Given the description of an element on the screen output the (x, y) to click on. 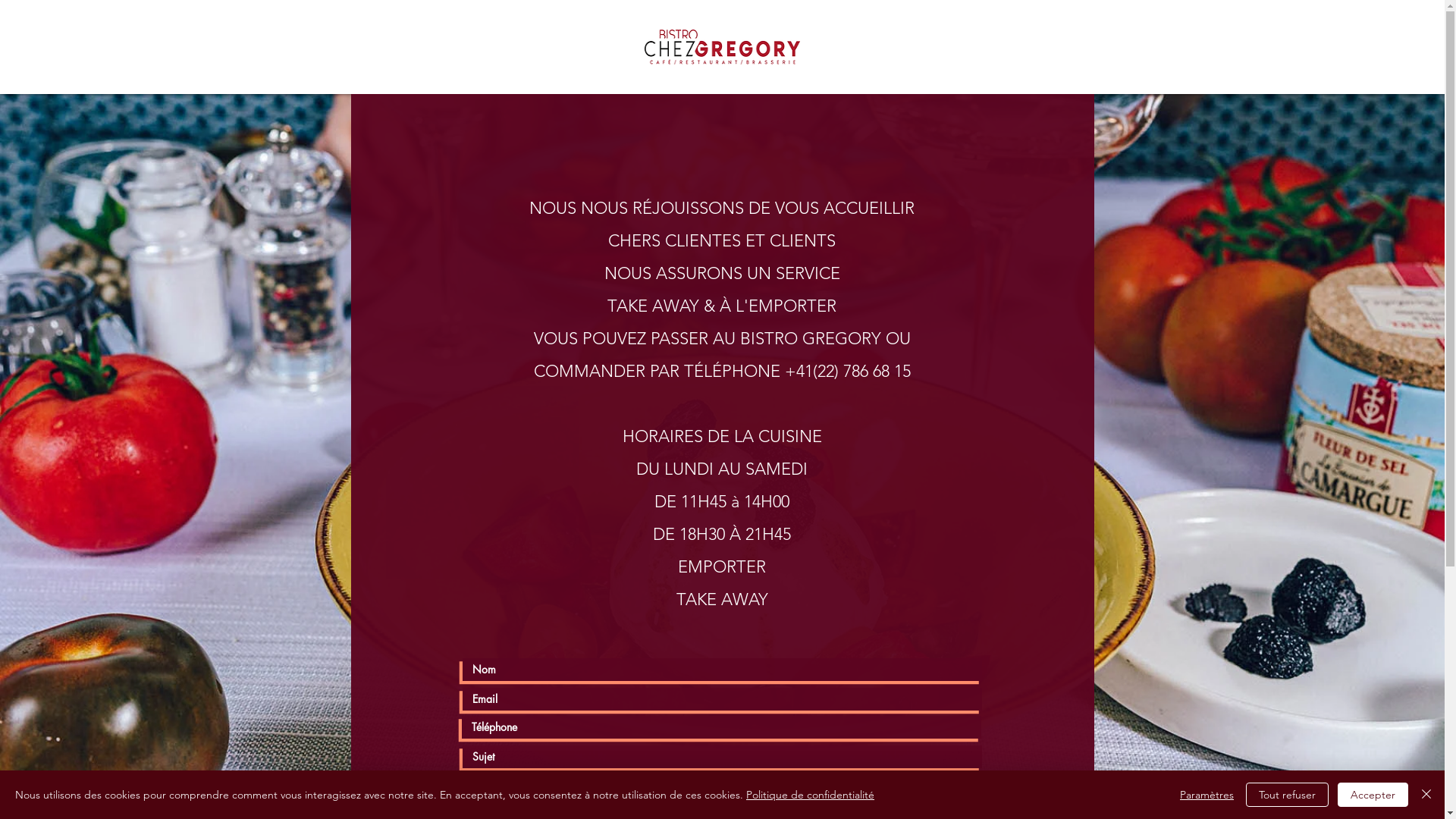
Tout refuser Element type: text (1286, 794)
Accepter Element type: text (1372, 794)
